Given the description of an element on the screen output the (x, y) to click on. 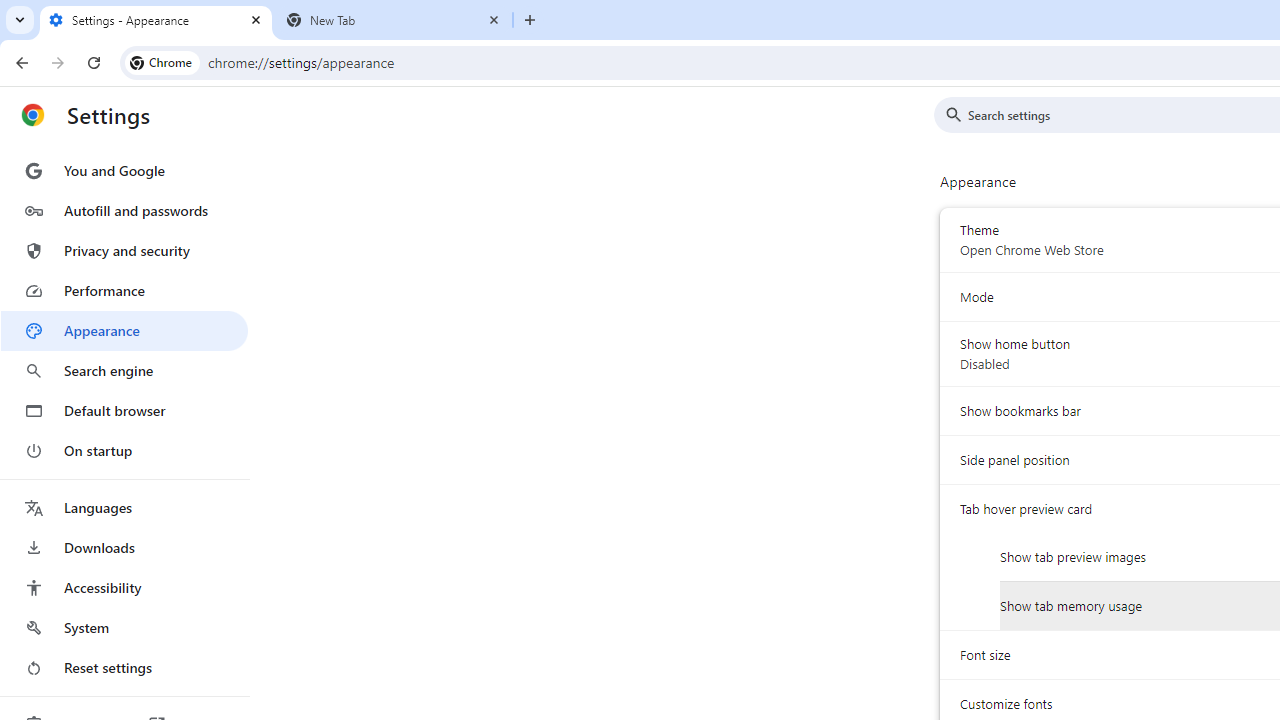
Autofill and passwords (124, 210)
Performance (124, 290)
Downloads (124, 547)
Settings - Appearance (156, 20)
On startup (124, 450)
Search engine (124, 370)
You and Google (124, 170)
